Given the description of an element on the screen output the (x, y) to click on. 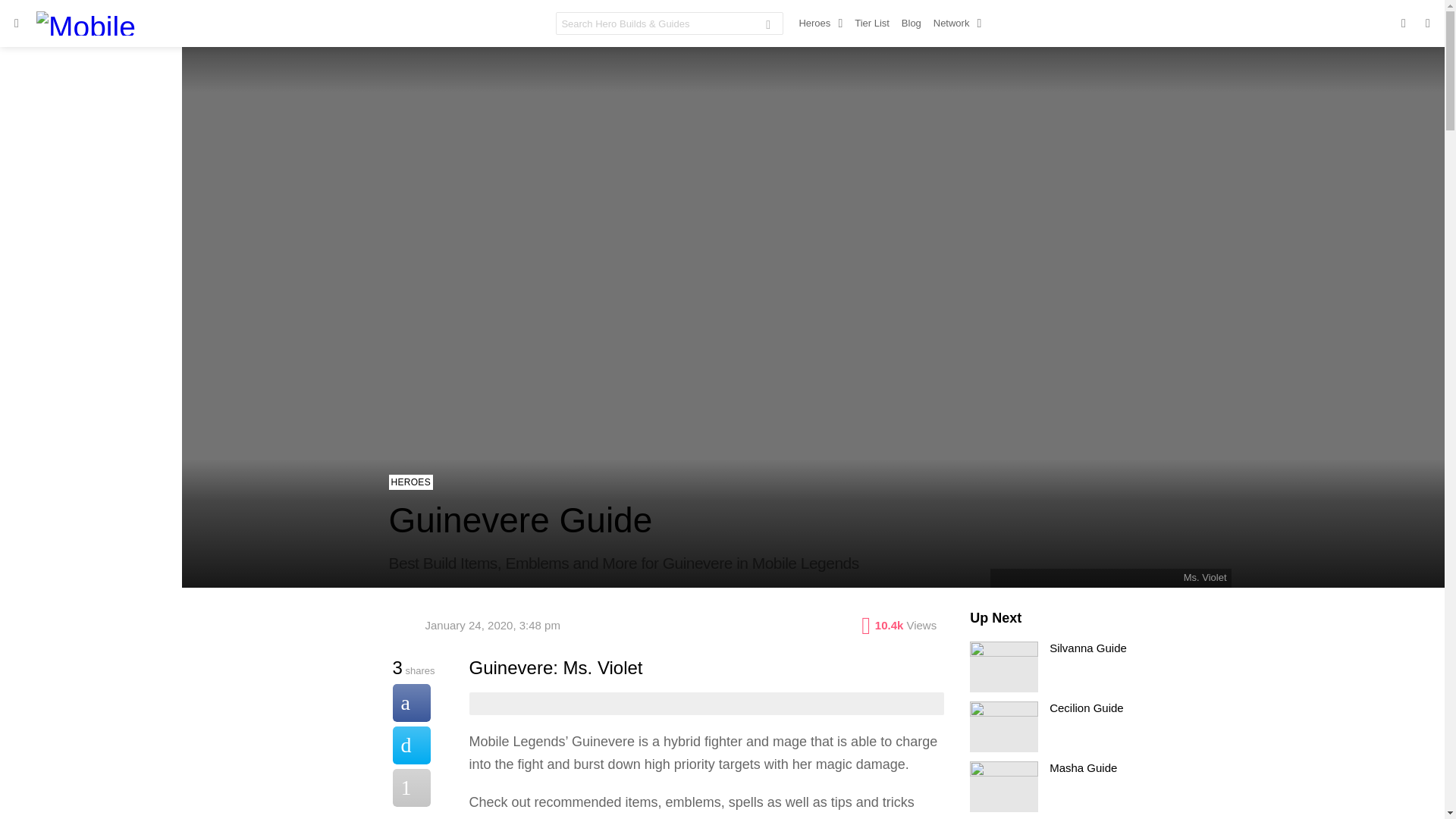
Search for: (669, 23)
twitter (1427, 23)
Tier List (871, 23)
Menu (16, 23)
facebook (1403, 23)
tier list (840, 818)
SEARCH (767, 26)
HEROES (410, 482)
Heroes (820, 23)
Network (957, 23)
